Given the description of an element on the screen output the (x, y) to click on. 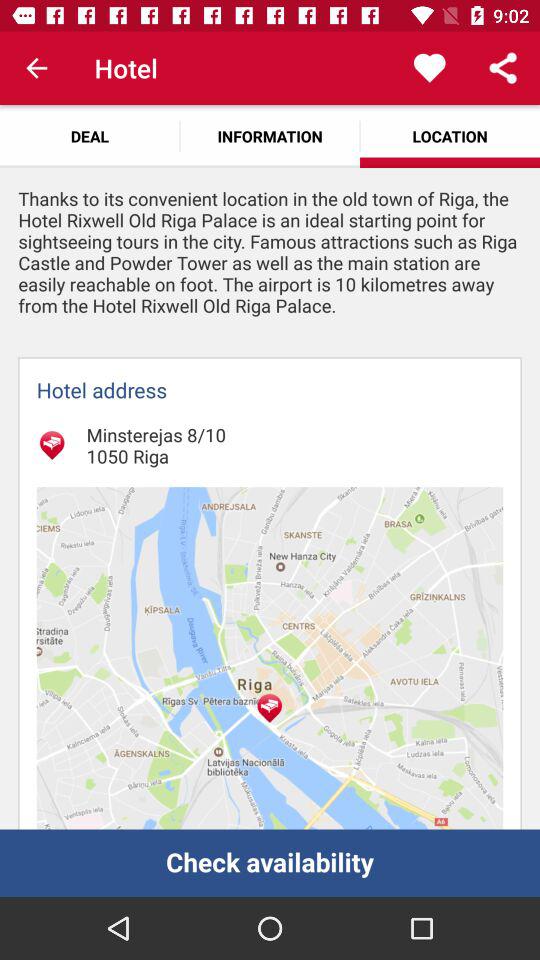
press icon next to the location icon (270, 136)
